Given the description of an element on the screen output the (x, y) to click on. 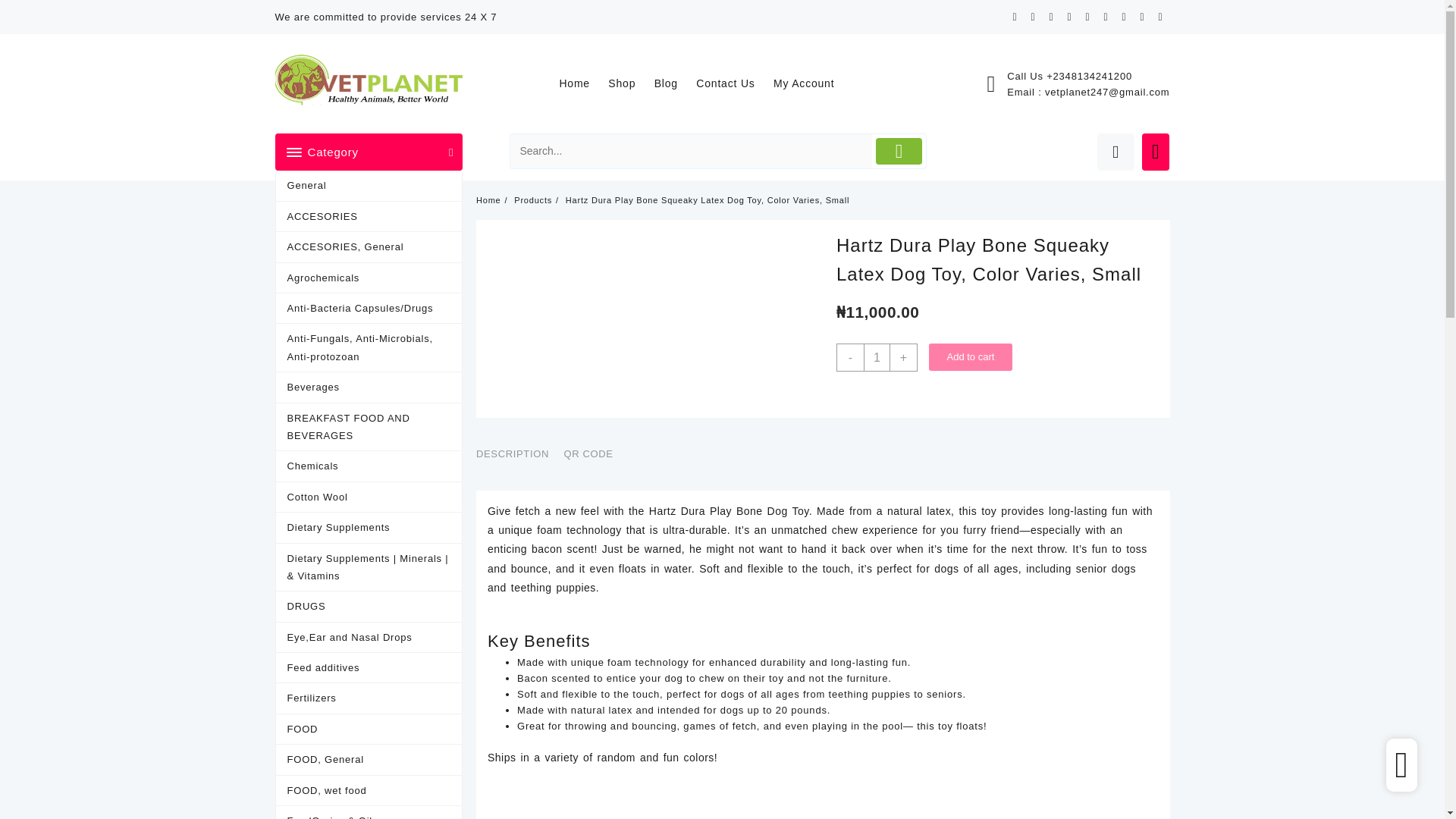
Home (582, 83)
Search (691, 151)
Contact Us (732, 83)
1 (876, 357)
My Account (810, 83)
Shop (629, 83)
Blog (673, 83)
